Given the description of an element on the screen output the (x, y) to click on. 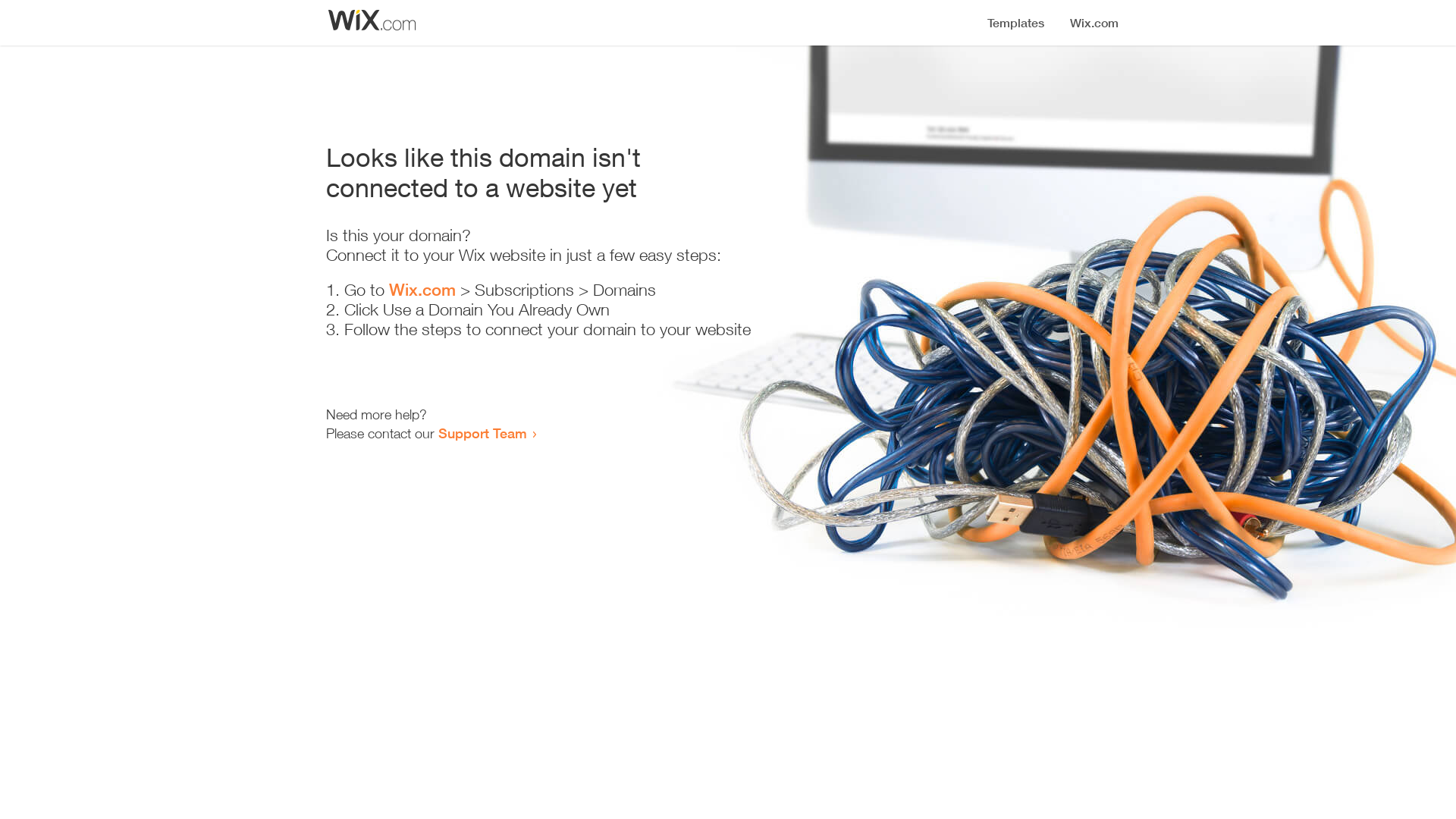
Wix.com Element type: text (422, 289)
Support Team Element type: text (482, 432)
